Given the description of an element on the screen output the (x, y) to click on. 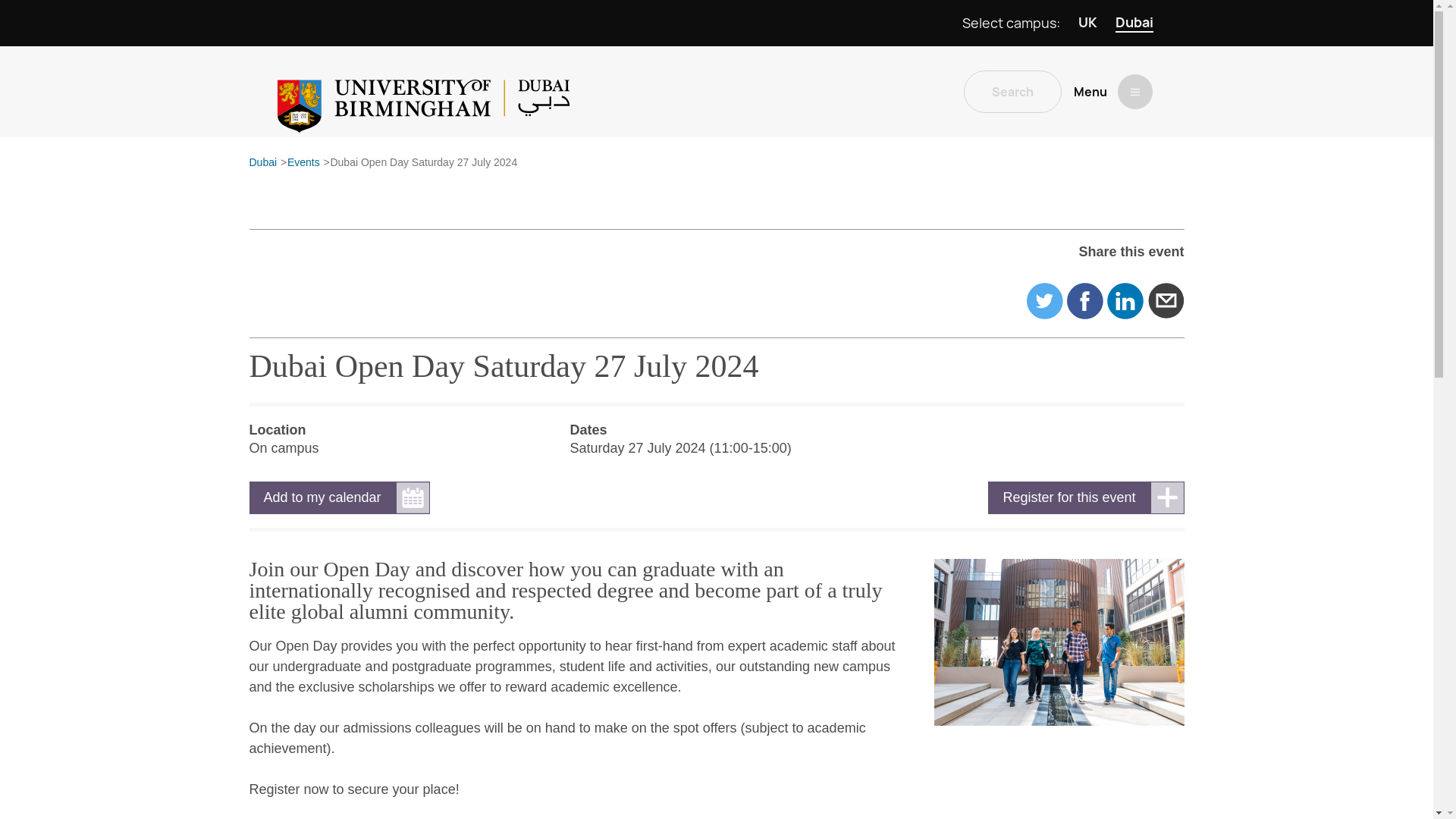
Dubai (262, 163)
Share on email (1166, 300)
Share on Twitter (1044, 300)
Register for this event (1085, 497)
Events (303, 163)
Search (1012, 91)
UK (1087, 23)
Share on facebook (1085, 300)
Share on Facebook (1085, 300)
Share on linkedin (1124, 300)
Dubai Open Day Saturday 27 July 2024 (423, 163)
Share on Twitter (1044, 300)
Share in LinkedIn (1124, 300)
Add to my calendar (338, 497)
Dubai (1134, 23)
